Given the description of an element on the screen output the (x, y) to click on. 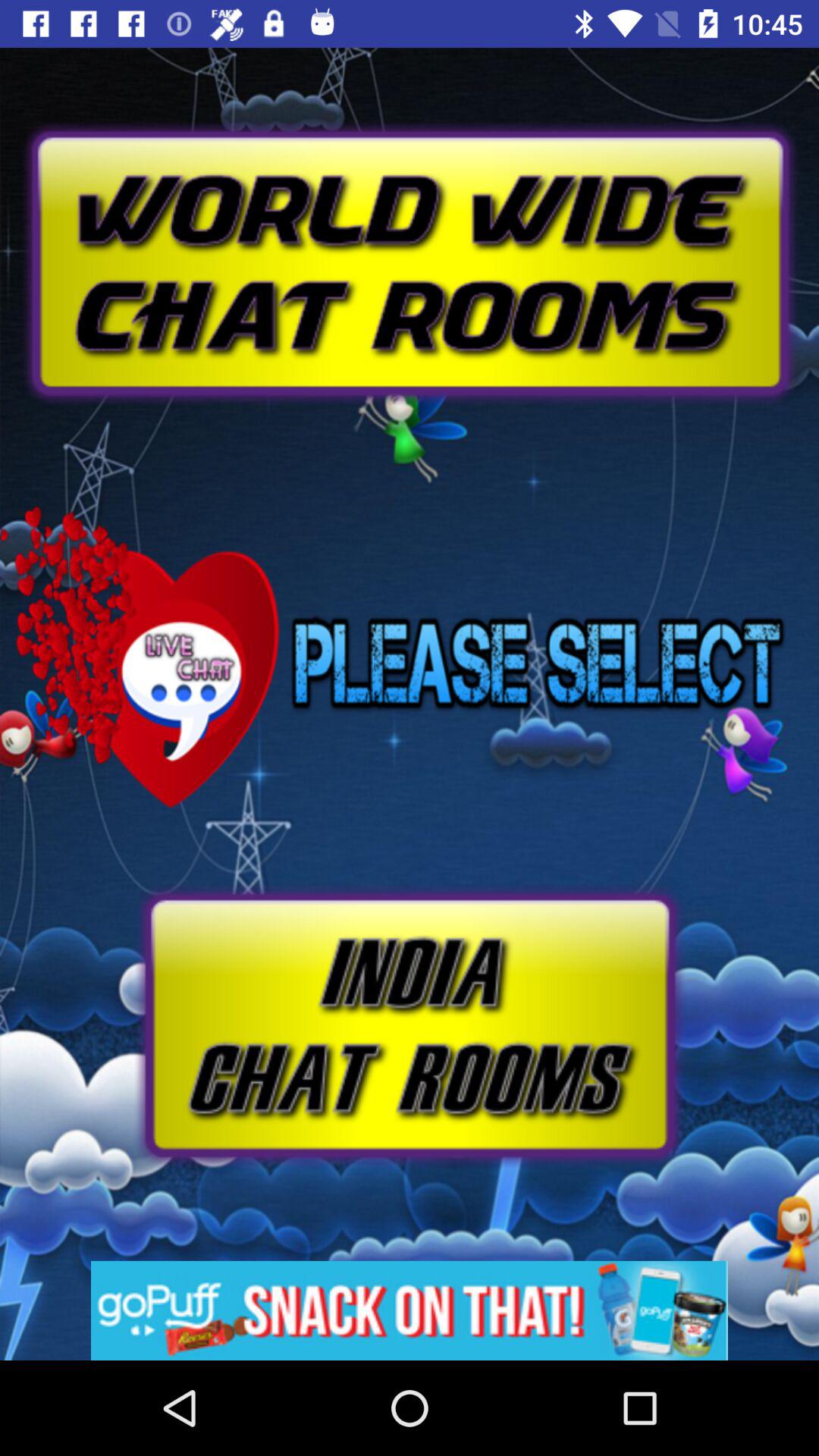
game (409, 1025)
